Given the description of an element on the screen output the (x, y) to click on. 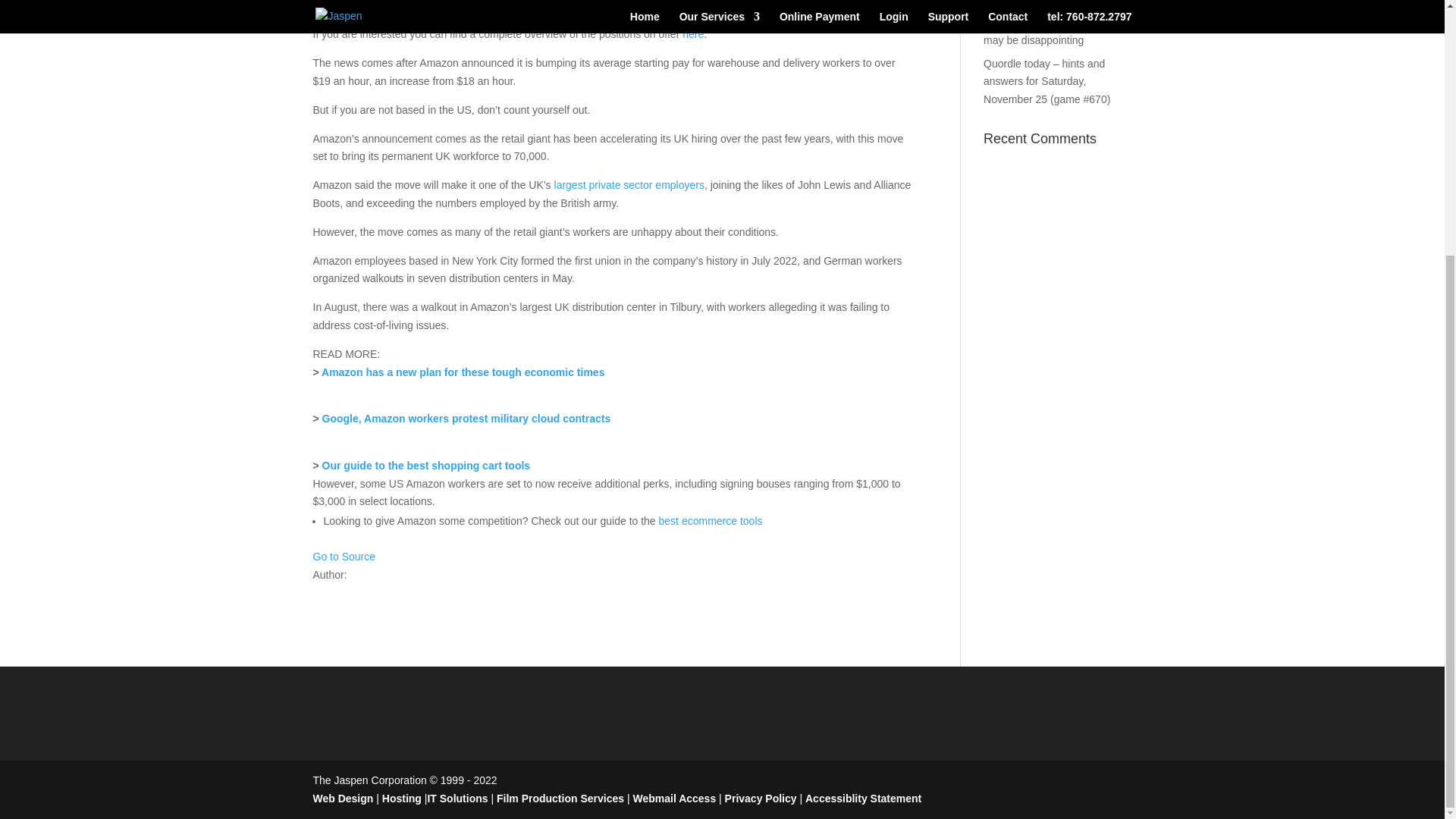
largest private sector employers (629, 184)
Go to Source (344, 556)
Film Production Services (560, 798)
Amazon has a new plan for these tough economic times (462, 372)
Web Design (344, 798)
IT Solutions (456, 798)
here (692, 33)
best ecommerce tools  (712, 521)
Hosting (403, 798)
Privacy Policy (760, 798)
